Given the description of an element on the screen output the (x, y) to click on. 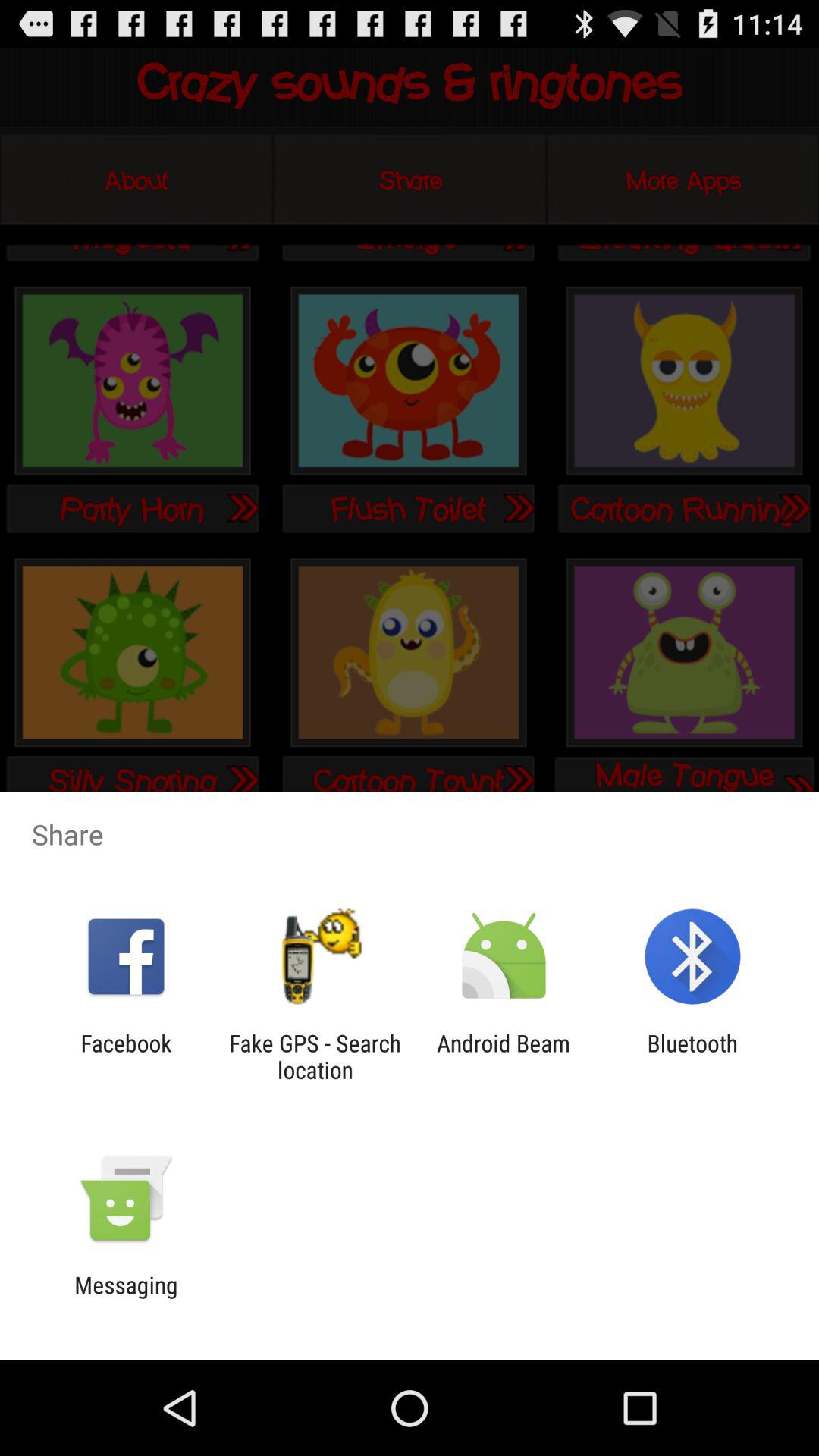
choose icon next to android beam icon (314, 1056)
